Given the description of an element on the screen output the (x, y) to click on. 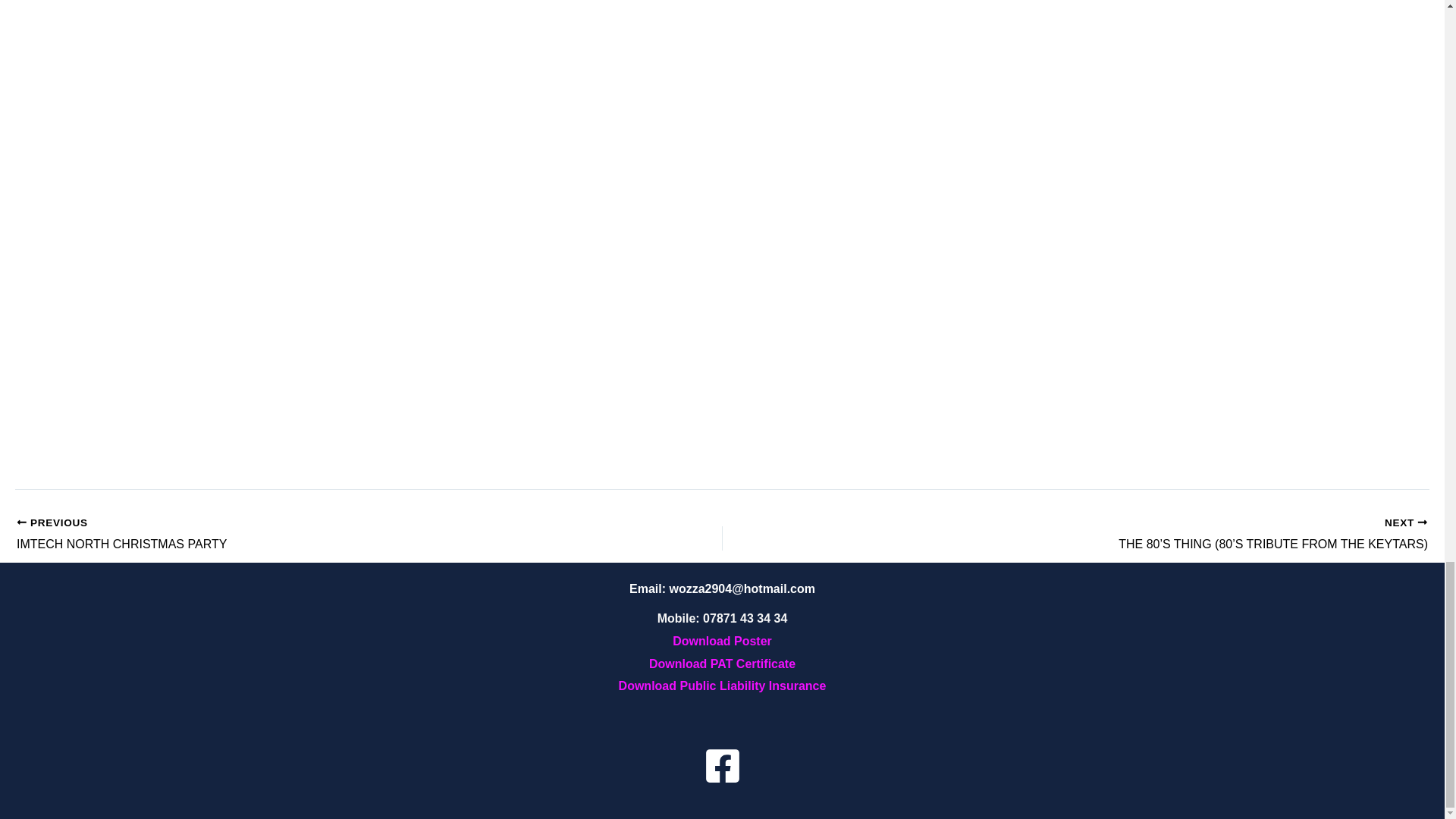
Download Poster (721, 640)
Download PAT Certificate (721, 663)
IMTECH NORTH CHRISTMAS PARTY (299, 535)
Download Public Liability Insurance (299, 535)
